Given the description of an element on the screen output the (x, y) to click on. 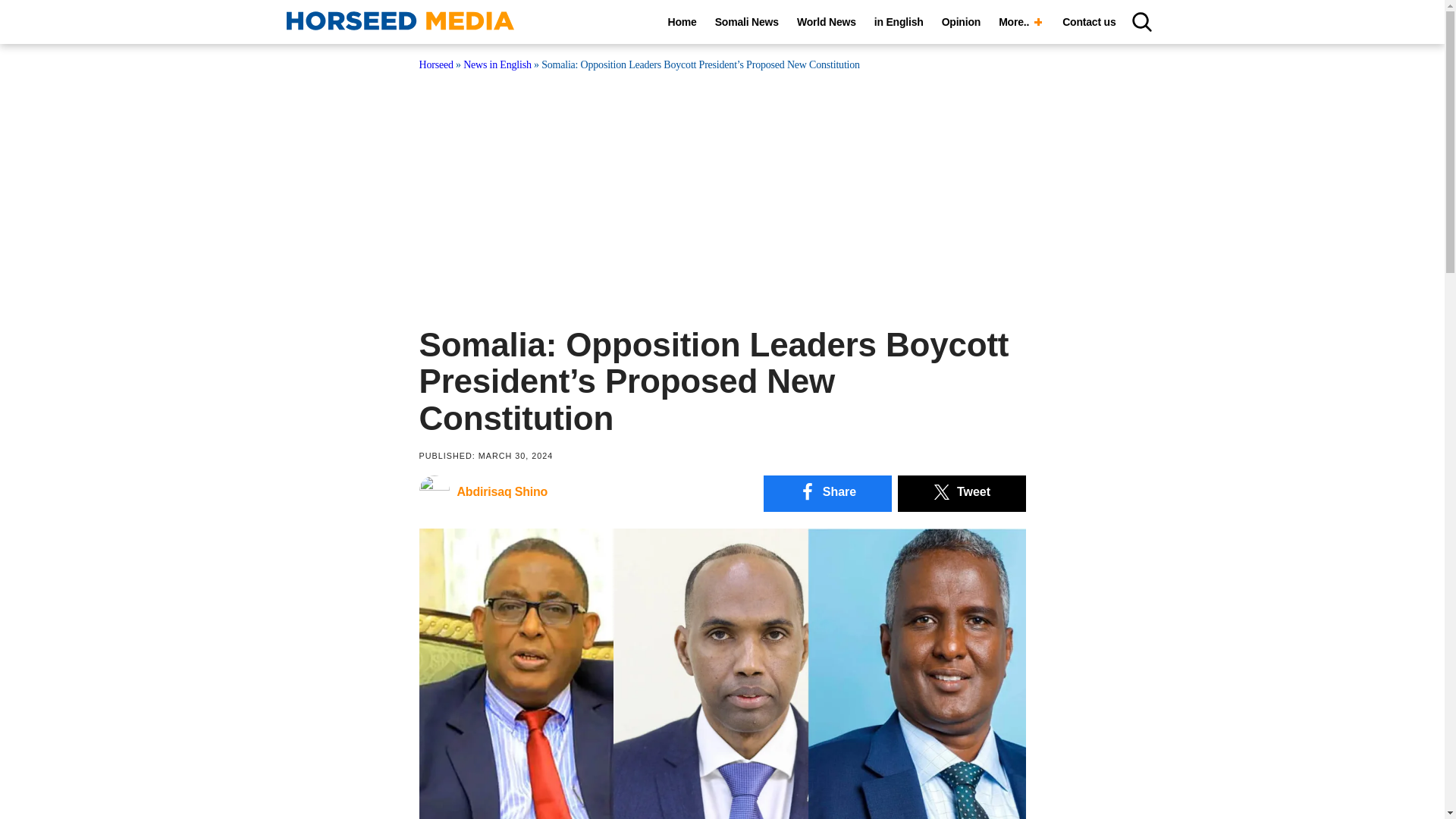
Share on Twitter (962, 493)
Home (682, 22)
Somali News (746, 22)
Share on Facebook (826, 493)
in English (898, 22)
News in English (497, 64)
Advertisement (722, 190)
Abdirisaq Shino (483, 495)
Horseed (435, 64)
